Given the description of an element on the screen output the (x, y) to click on. 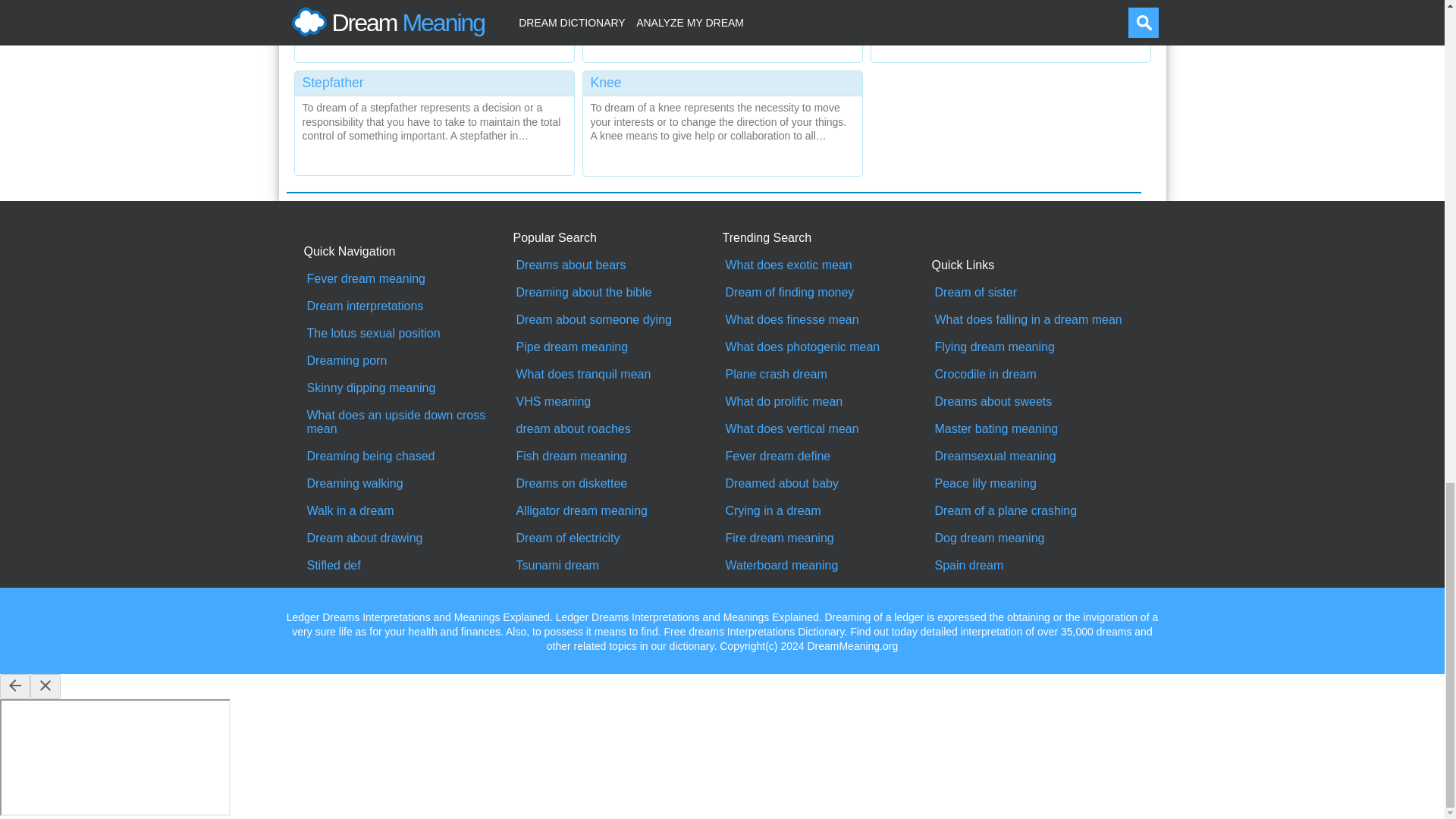
Dreaming being chased (407, 456)
What does an upside down cross mean (407, 421)
Newborn Dream Meaning (721, 27)
Dreaming walking (407, 483)
Dream interpretations (407, 305)
Dreaming porn (407, 360)
Stifled def (407, 565)
Placenta Dream Meaning (1010, 27)
dream about roaches (617, 428)
What does tranquil mean (617, 374)
